Given the description of an element on the screen output the (x, y) to click on. 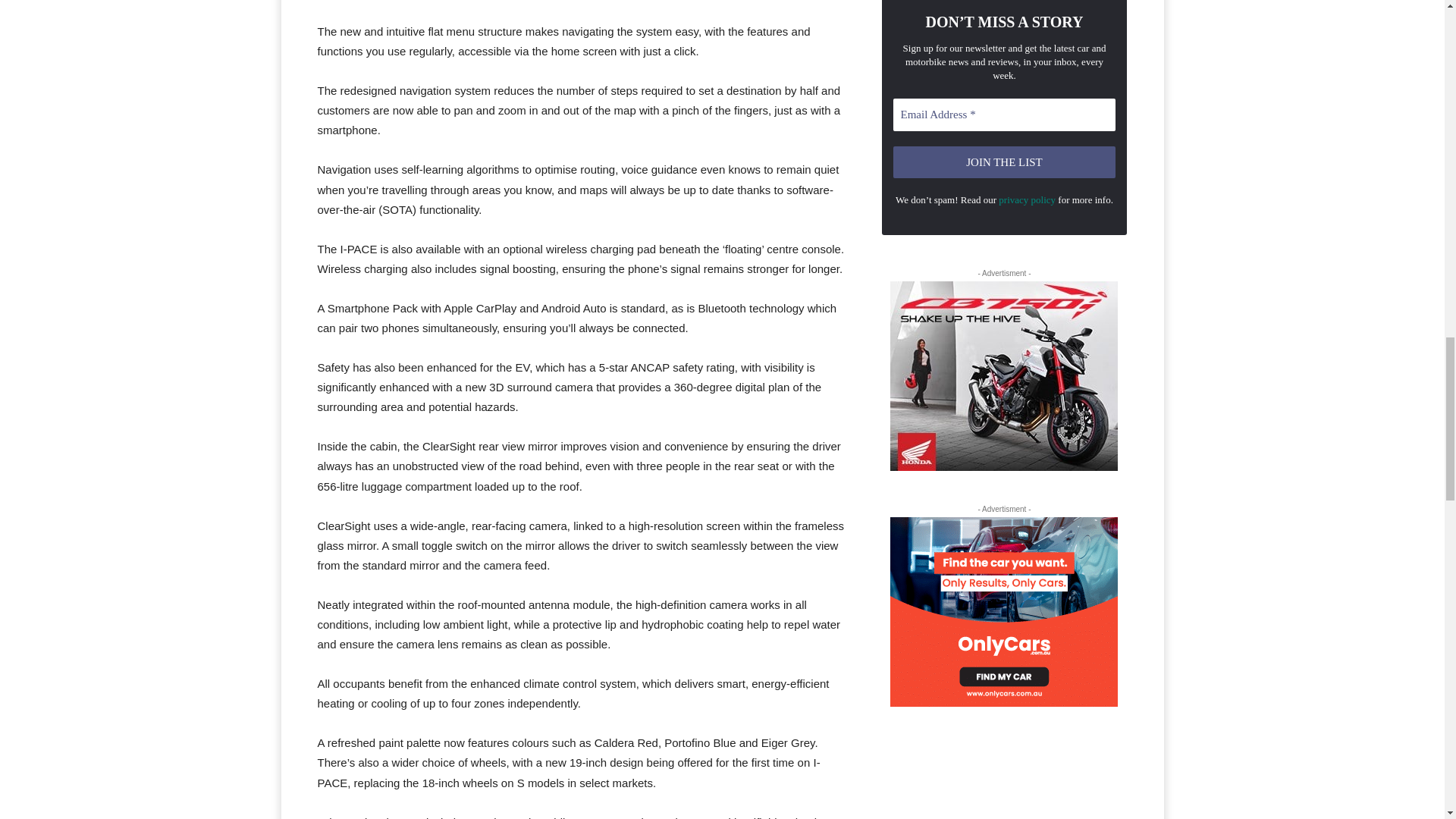
JOIN THE LIST (1004, 162)
